Given the description of an element on the screen output the (x, y) to click on. 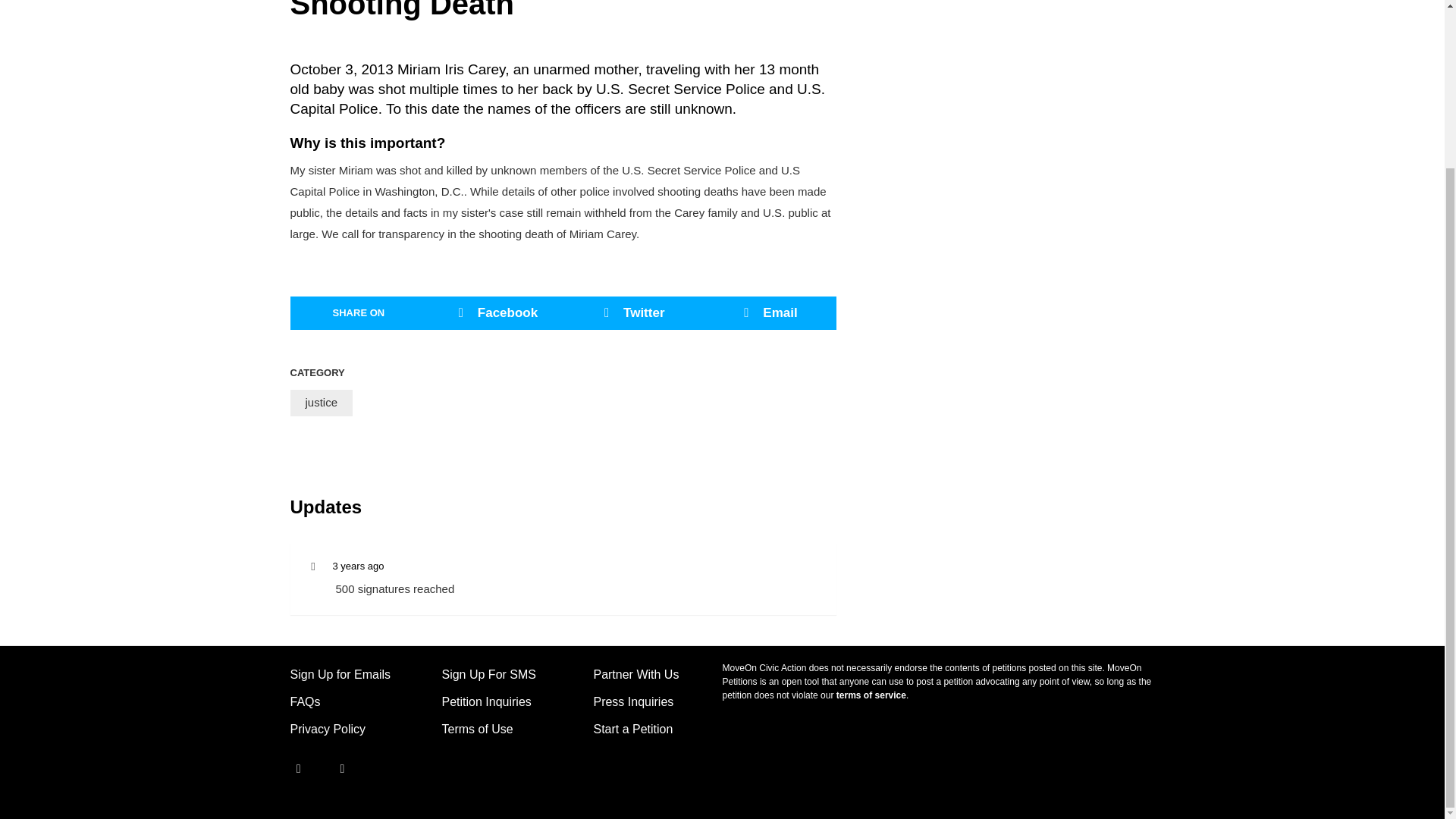
Twitter (631, 313)
justice (320, 402)
Press Inquiries (632, 701)
Sign Up for Emails (339, 674)
Twitter (329, 768)
Sign Up For SMS (488, 674)
Partner With Us (635, 674)
terms of service (870, 695)
Share on Facebook (494, 313)
Start a Petition (632, 728)
Privacy Policy (327, 728)
Email (766, 313)
Facebook (494, 313)
Terms of Use (476, 728)
Share on Twitter (631, 313)
